Given the description of an element on the screen output the (x, y) to click on. 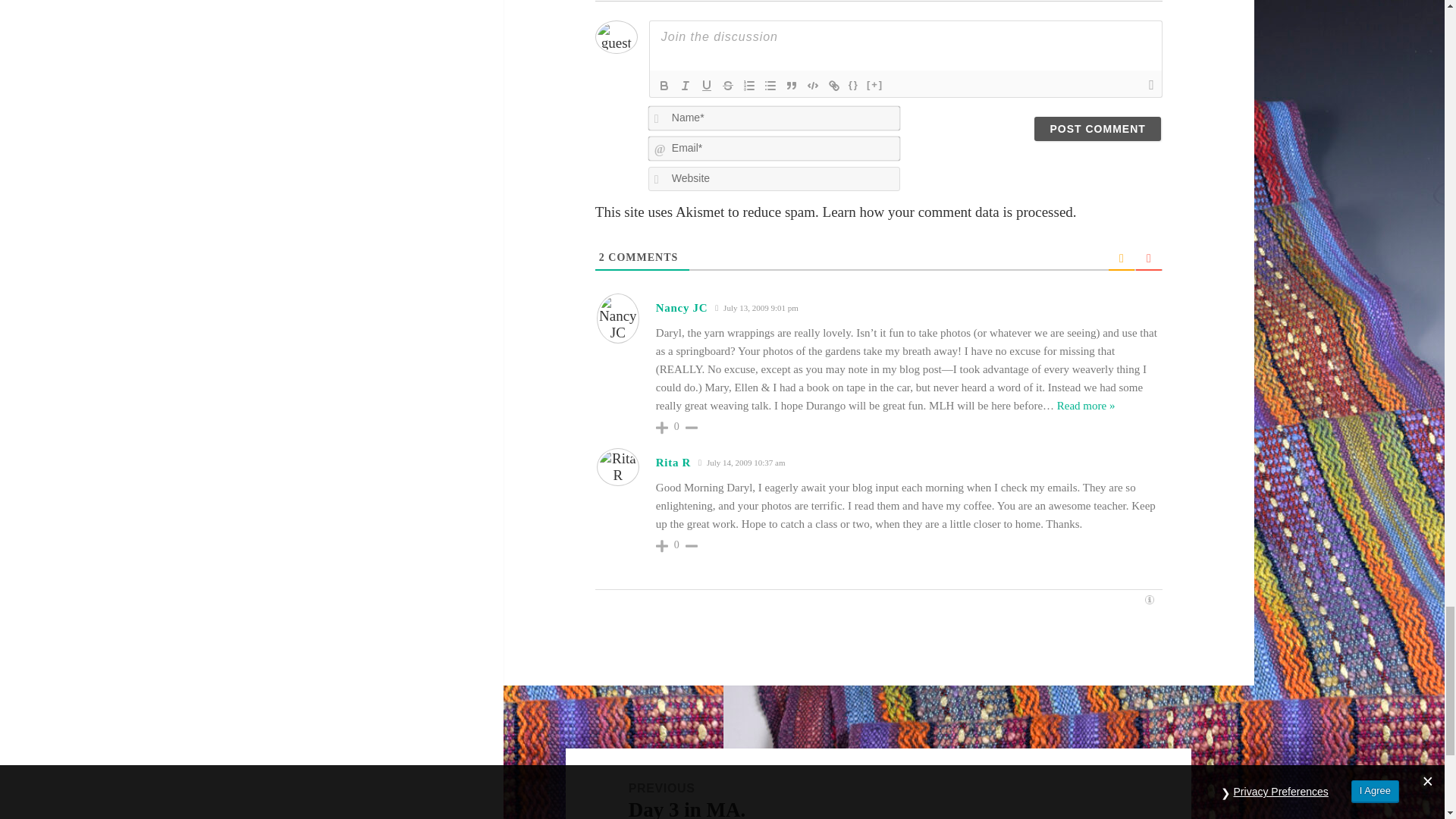
Post Comment (1096, 128)
